Given the description of an element on the screen output the (x, y) to click on. 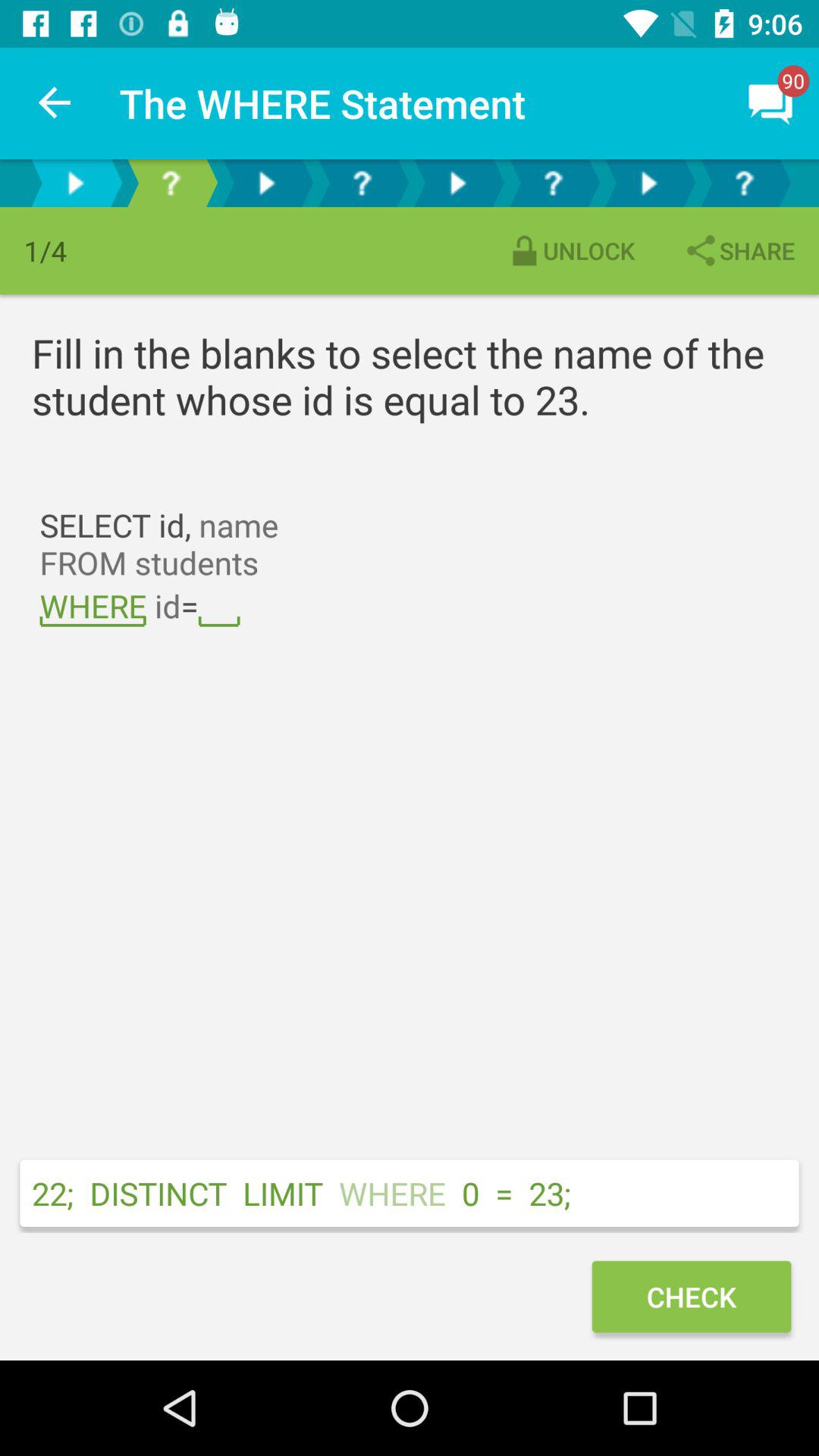
a asked for help function (743, 183)
